Given the description of an element on the screen output the (x, y) to click on. 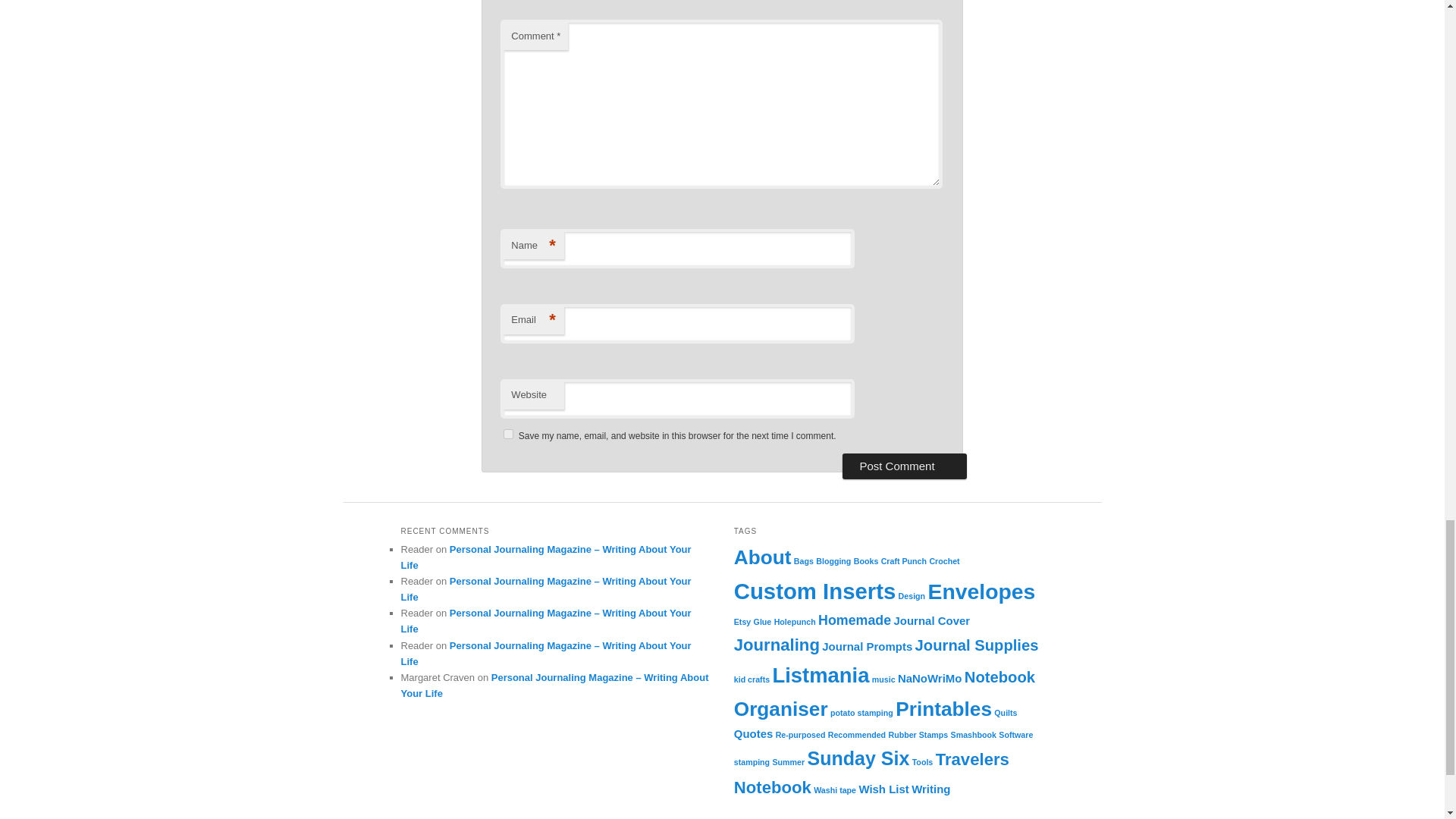
Books (866, 560)
Custom Inserts (814, 590)
Bags (803, 560)
Blogging (832, 560)
About (762, 557)
Crochet (943, 560)
Post Comment (904, 466)
yes (508, 433)
Craft Punch (903, 560)
Post Comment (904, 466)
